Given the description of an element on the screen output the (x, y) to click on. 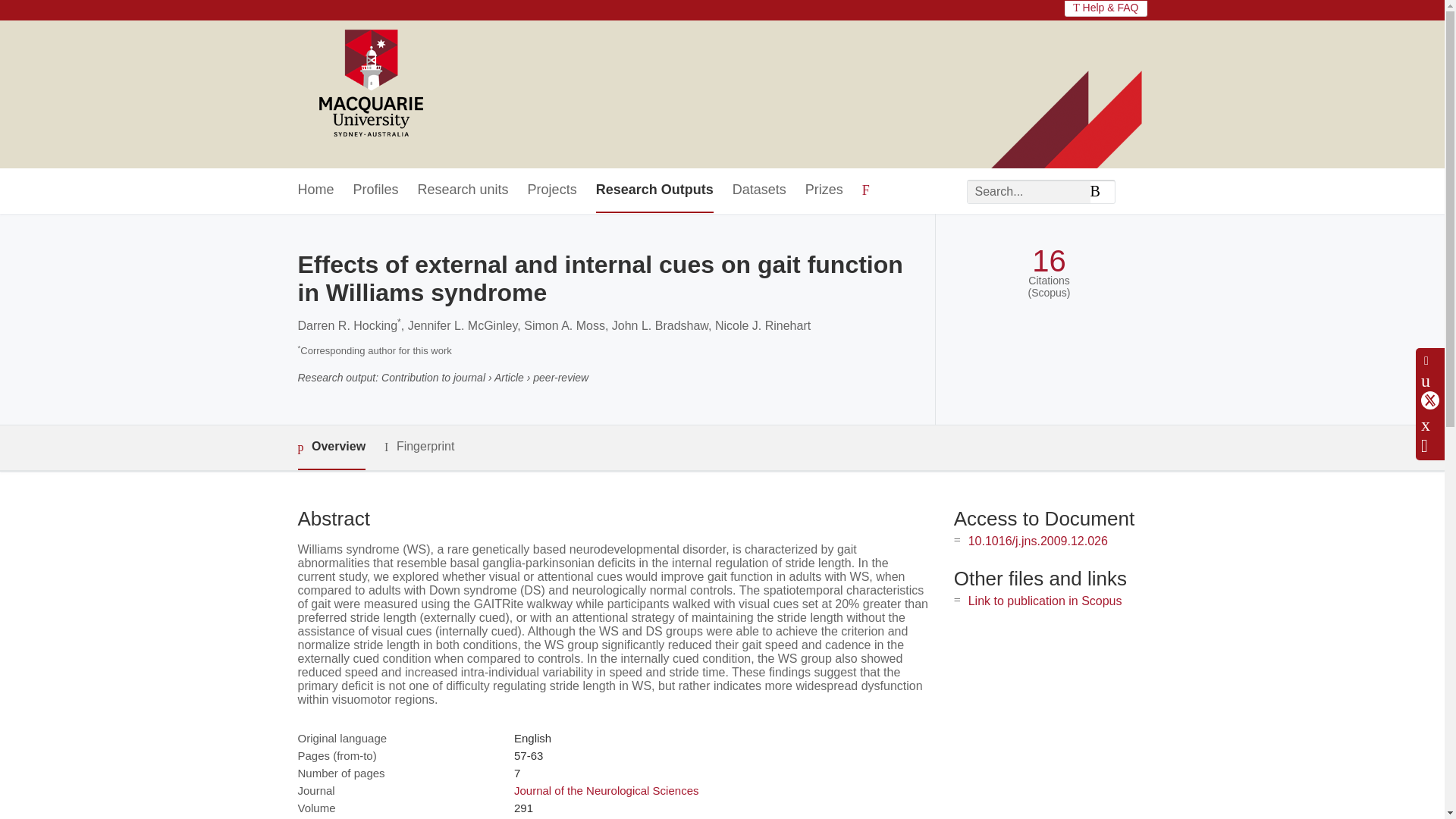
Macquarie University Home (369, 84)
Projects (551, 190)
Research units (462, 190)
Link to publication in Scopus (1045, 600)
16 (1048, 261)
Overview (331, 447)
Journal of the Neurological Sciences (605, 789)
Fingerprint (419, 446)
Profiles (375, 190)
Datasets (759, 190)
Research Outputs (654, 190)
